Given the description of an element on the screen output the (x, y) to click on. 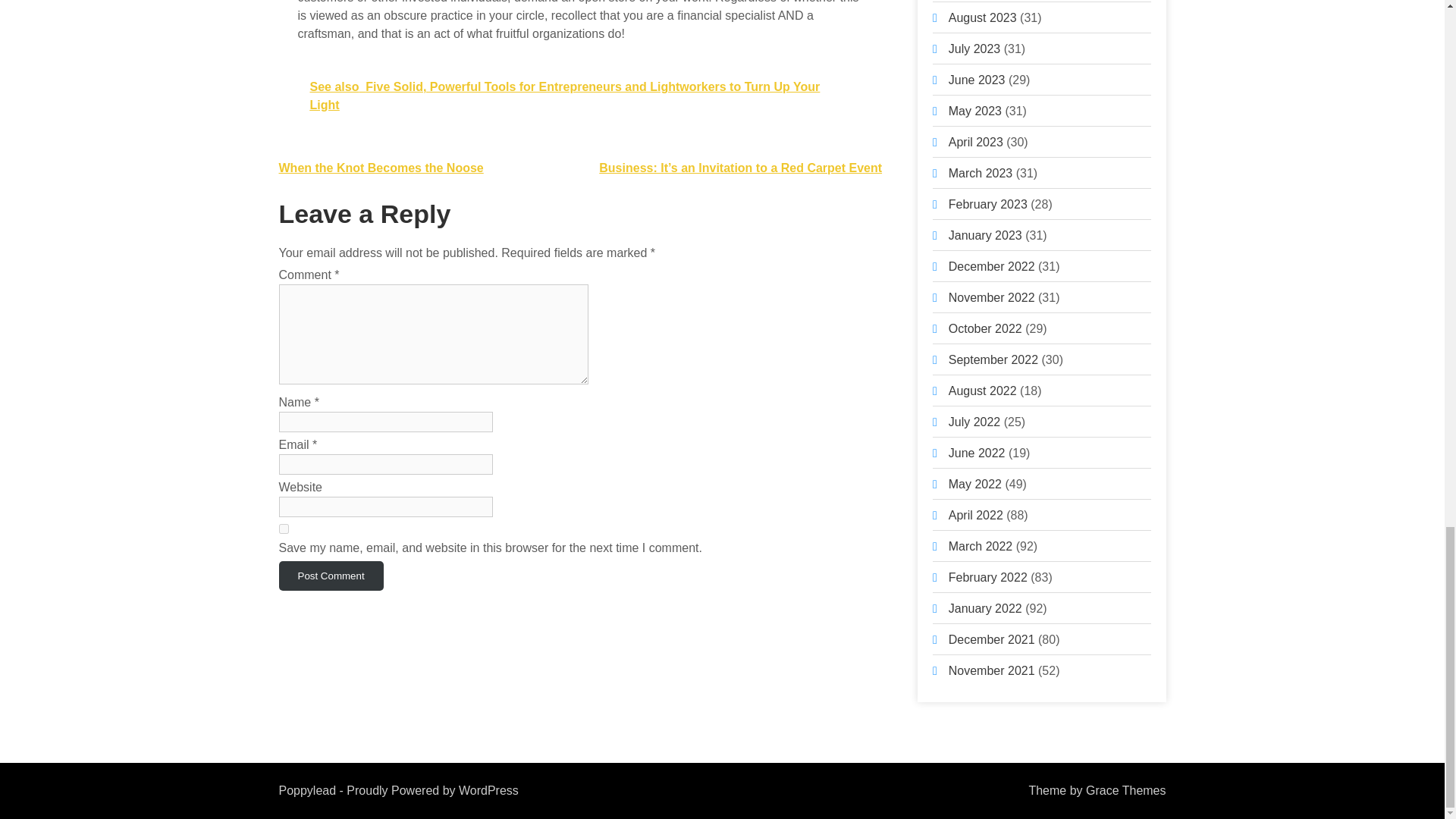
April 2022 (976, 514)
yes (283, 528)
February 2022 (988, 576)
April 2023 (976, 141)
September 2022 (993, 359)
When the Knot Becomes the Noose (381, 167)
December 2022 (992, 266)
August 2022 (982, 390)
March 2023 (981, 173)
